Given the description of an element on the screen output the (x, y) to click on. 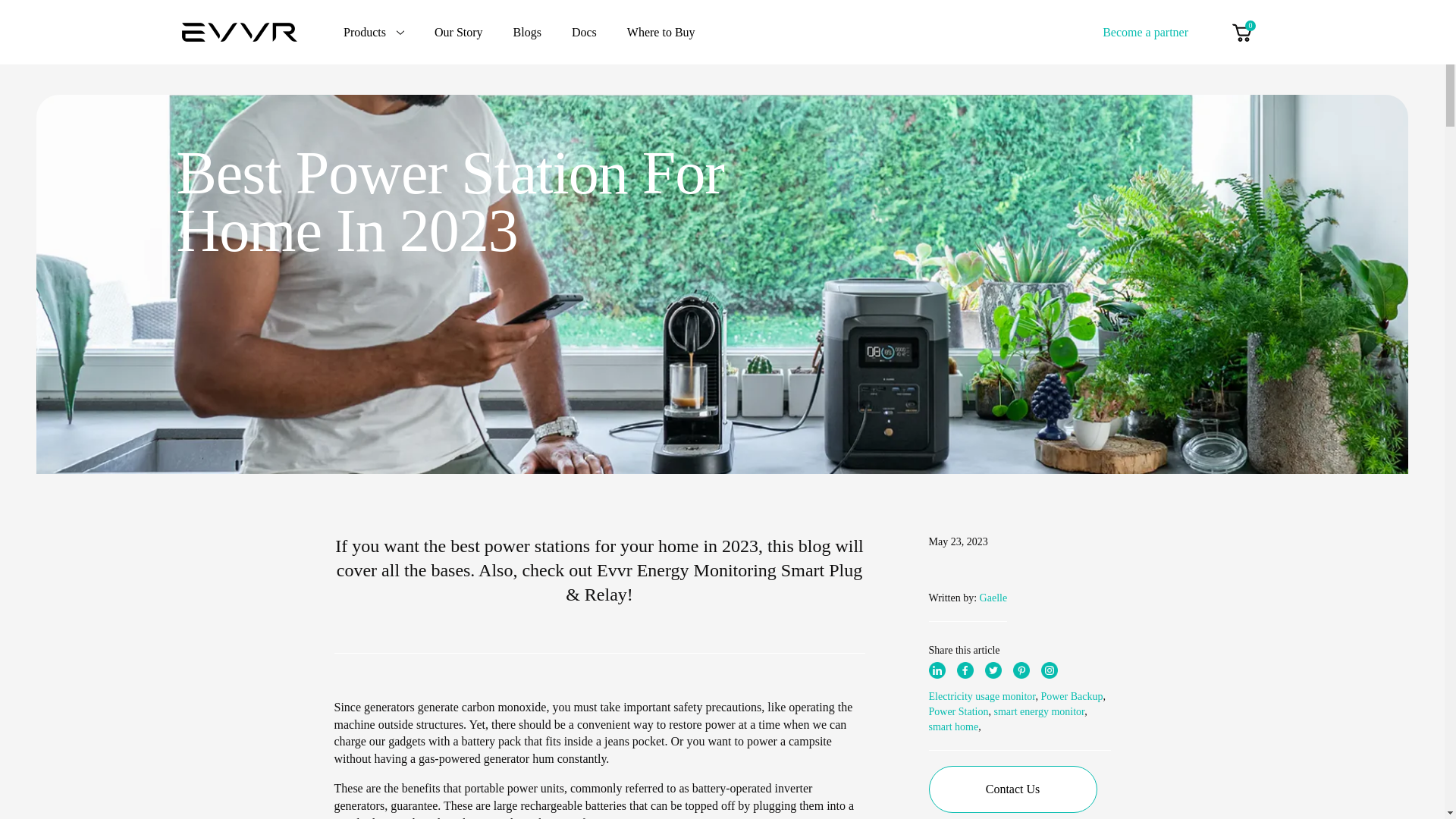
Our Story (458, 31)
Become a partner (1144, 31)
Where to Buy (661, 31)
Blogs (527, 31)
Docs (584, 31)
0 (1240, 31)
Products (373, 31)
